Given the description of an element on the screen output the (x, y) to click on. 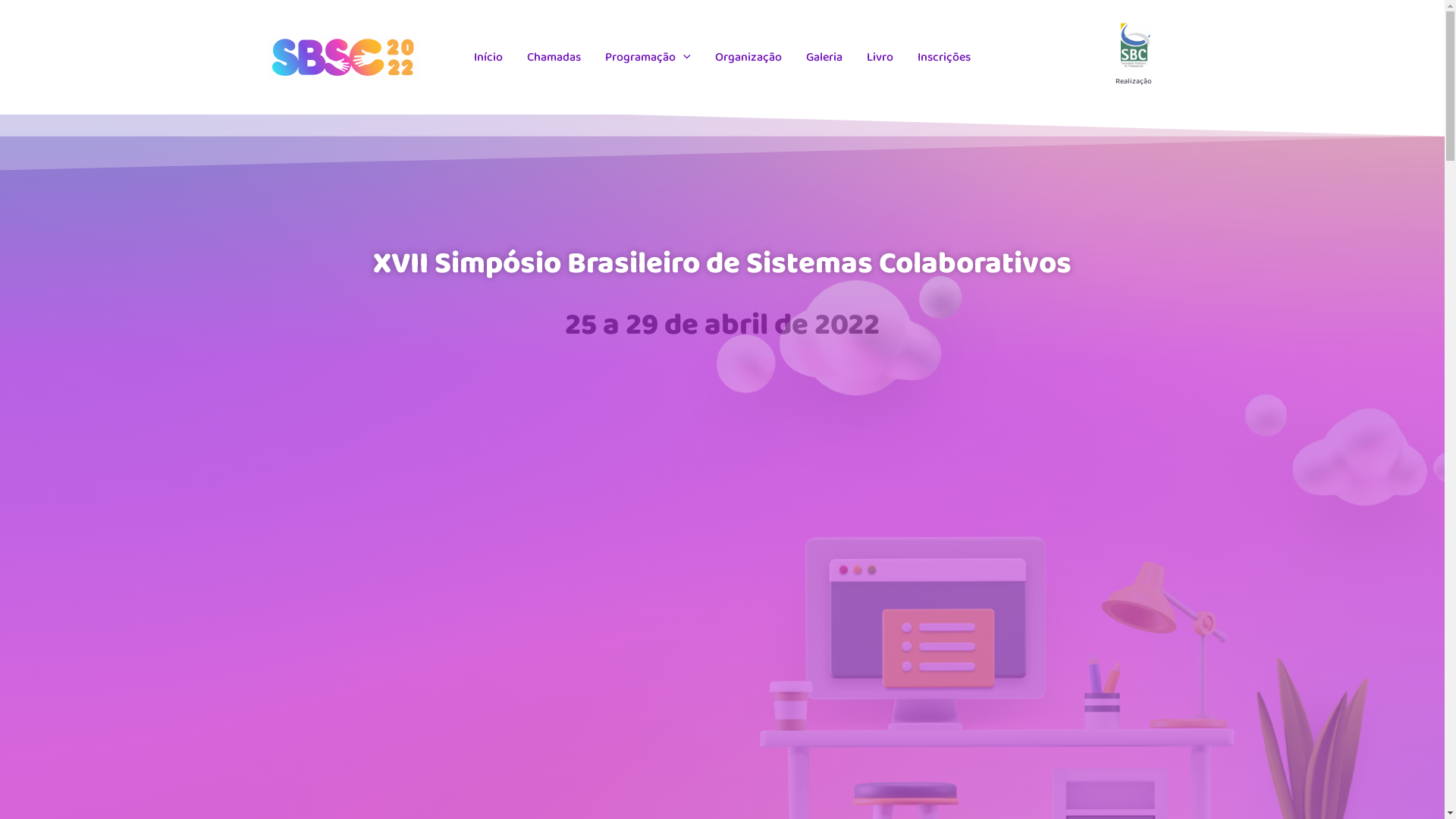
Galeria Element type: text (823, 57)
Chamadas Element type: text (553, 57)
Livro Element type: text (879, 57)
